Given the description of an element on the screen output the (x, y) to click on. 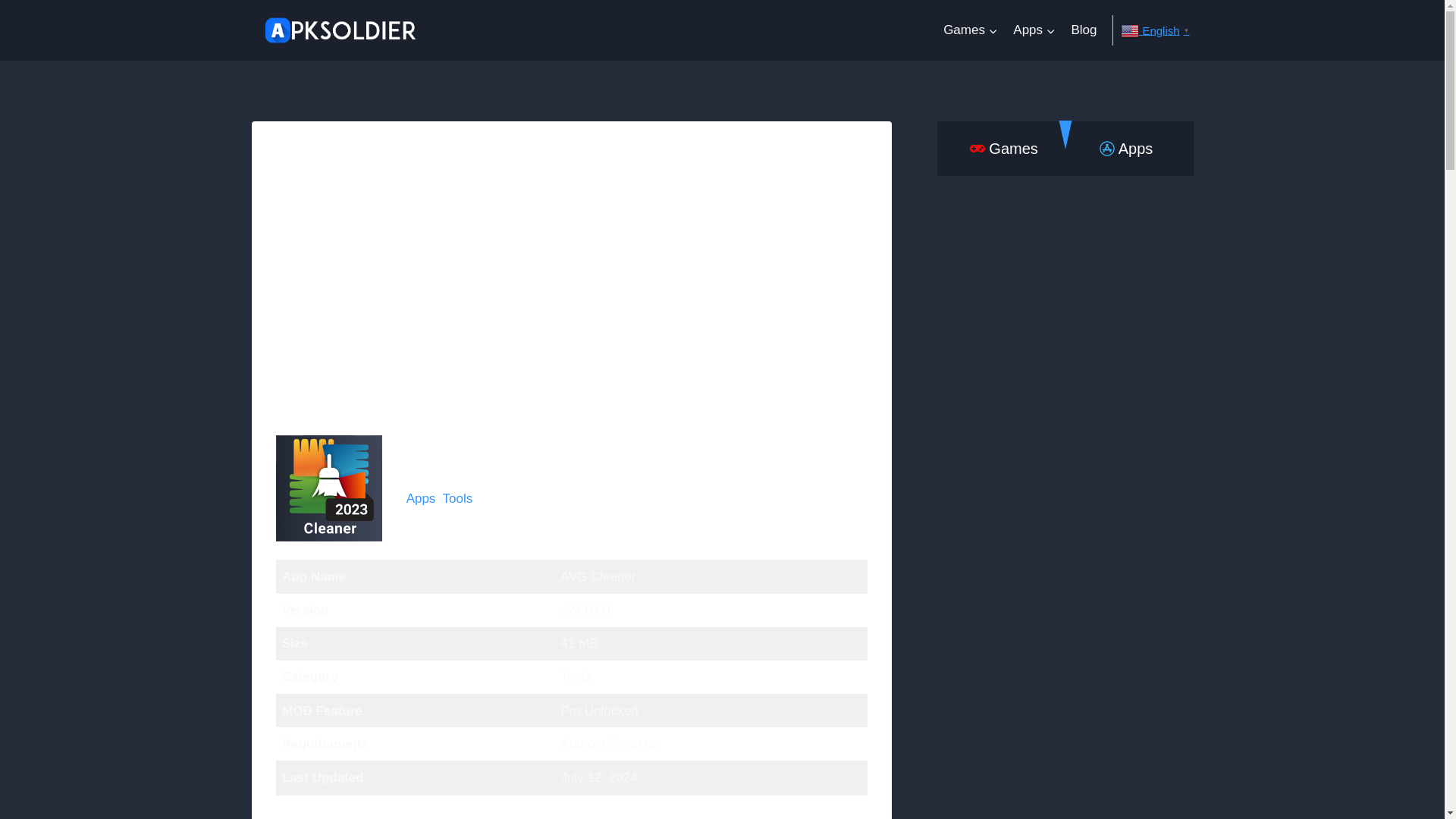
Games (971, 30)
Blog (1082, 30)
Apps (1034, 30)
